Given the description of an element on the screen output the (x, y) to click on. 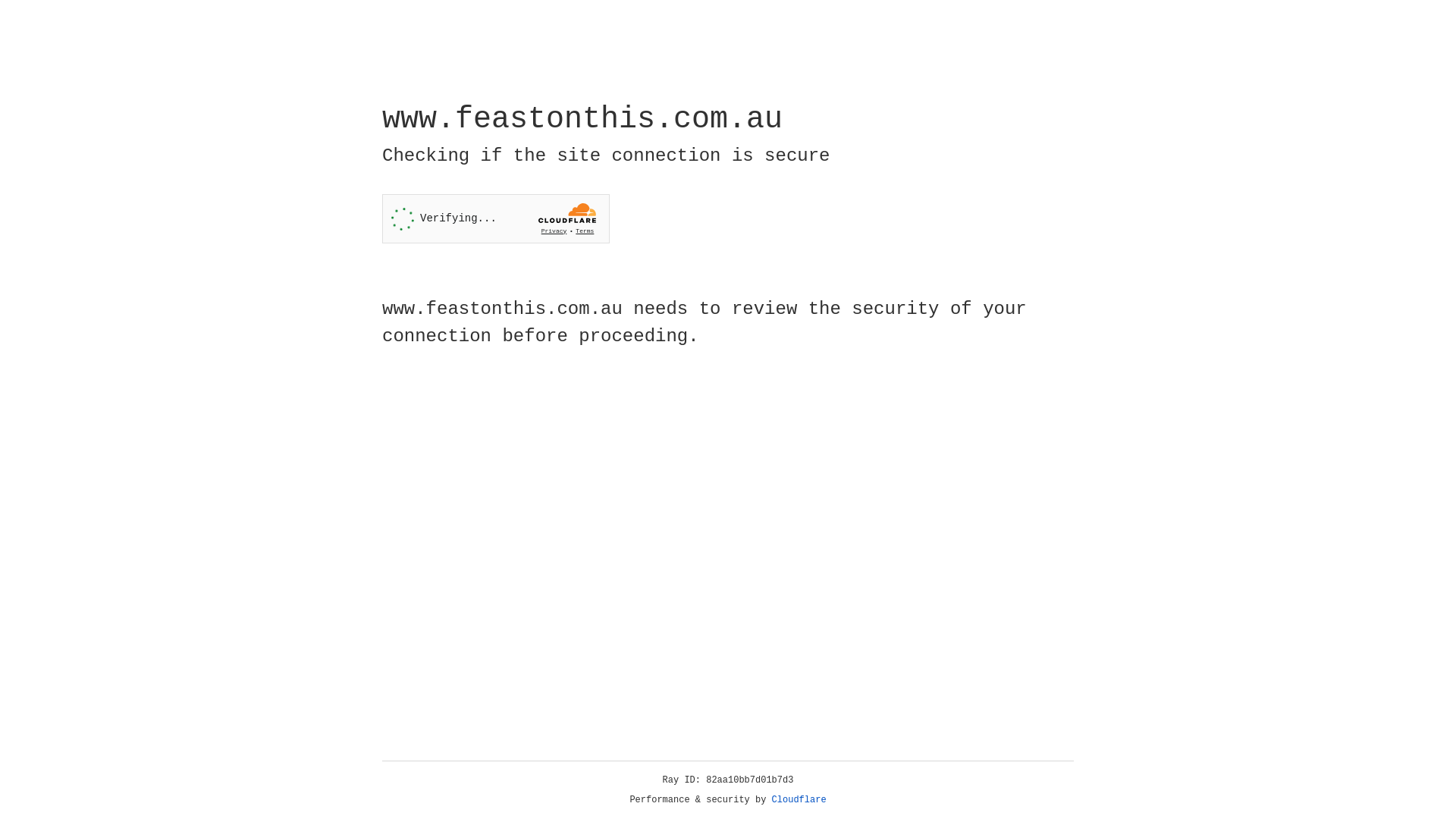
Widget containing a Cloudflare security challenge Element type: hover (495, 218)
Cloudflare Element type: text (798, 799)
